Given the description of an element on the screen output the (x, y) to click on. 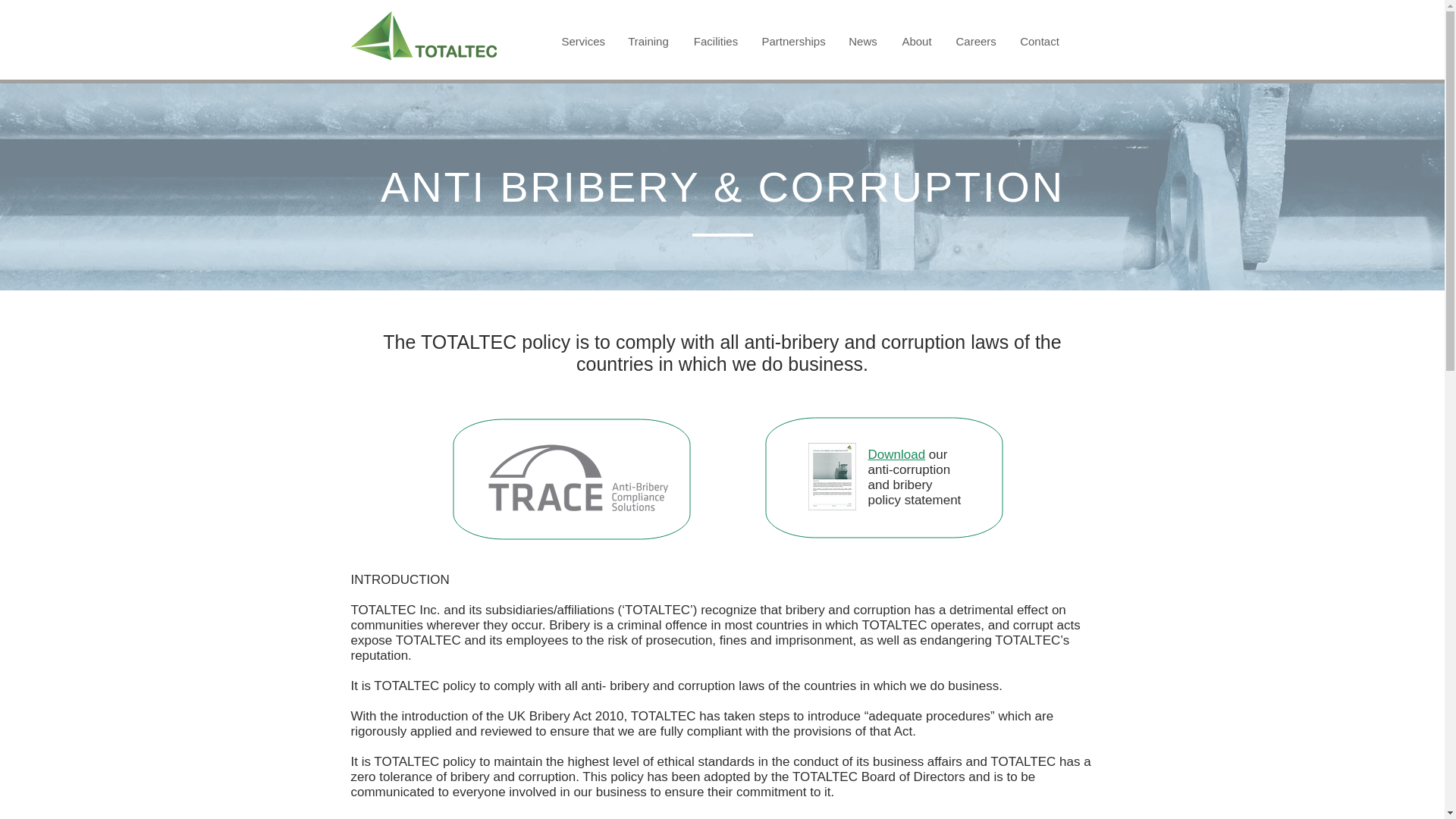
Careers (975, 41)
Facilities (715, 41)
News (863, 41)
Contact (1039, 41)
Partnerships (794, 41)
Services (582, 41)
Download (895, 454)
Training (648, 41)
About (915, 41)
